Given the description of an element on the screen output the (x, y) to click on. 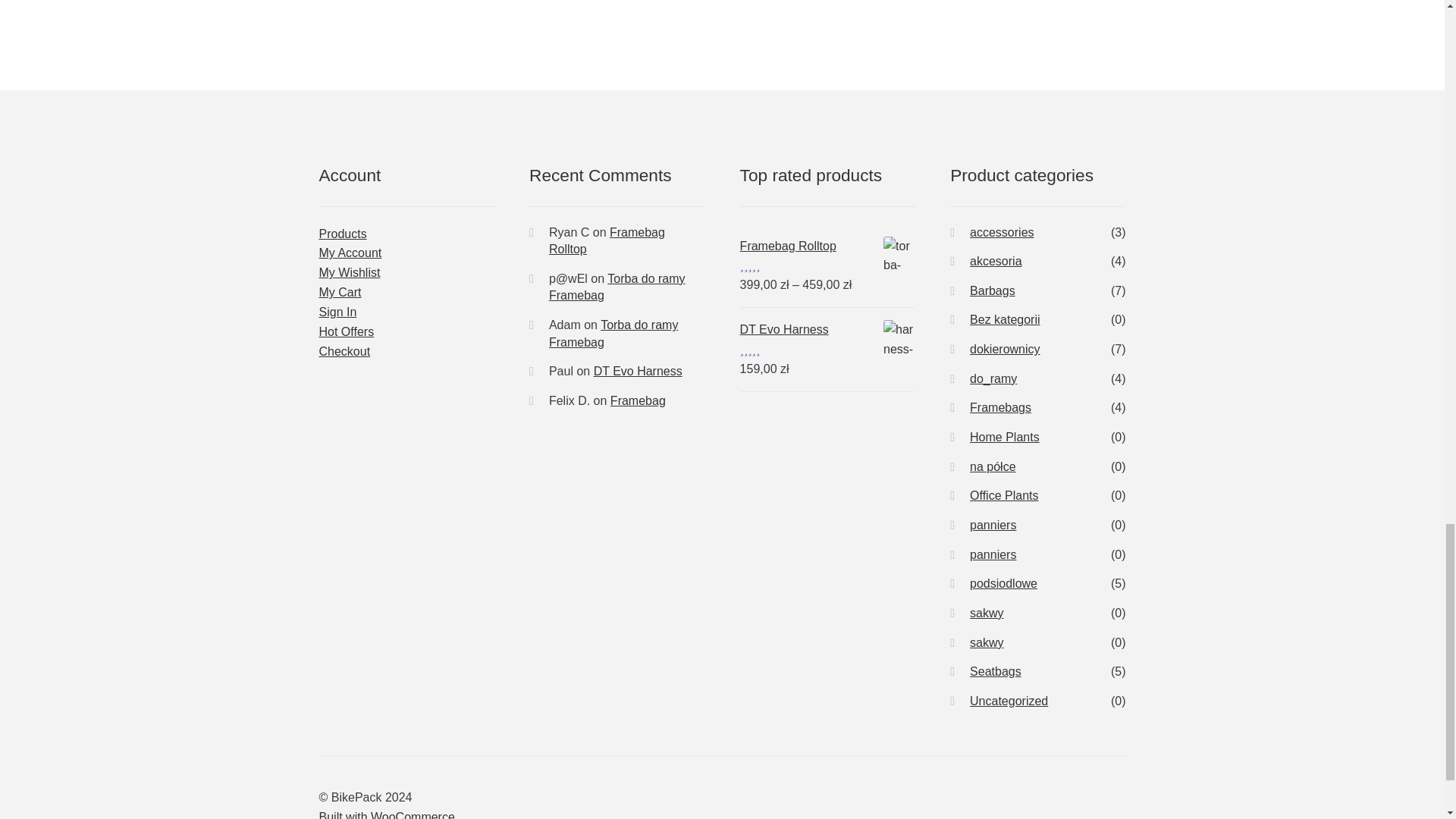
WooCommerce - The Best eCommerce Platform for WordPress (386, 814)
